Given the description of an element on the screen output the (x, y) to click on. 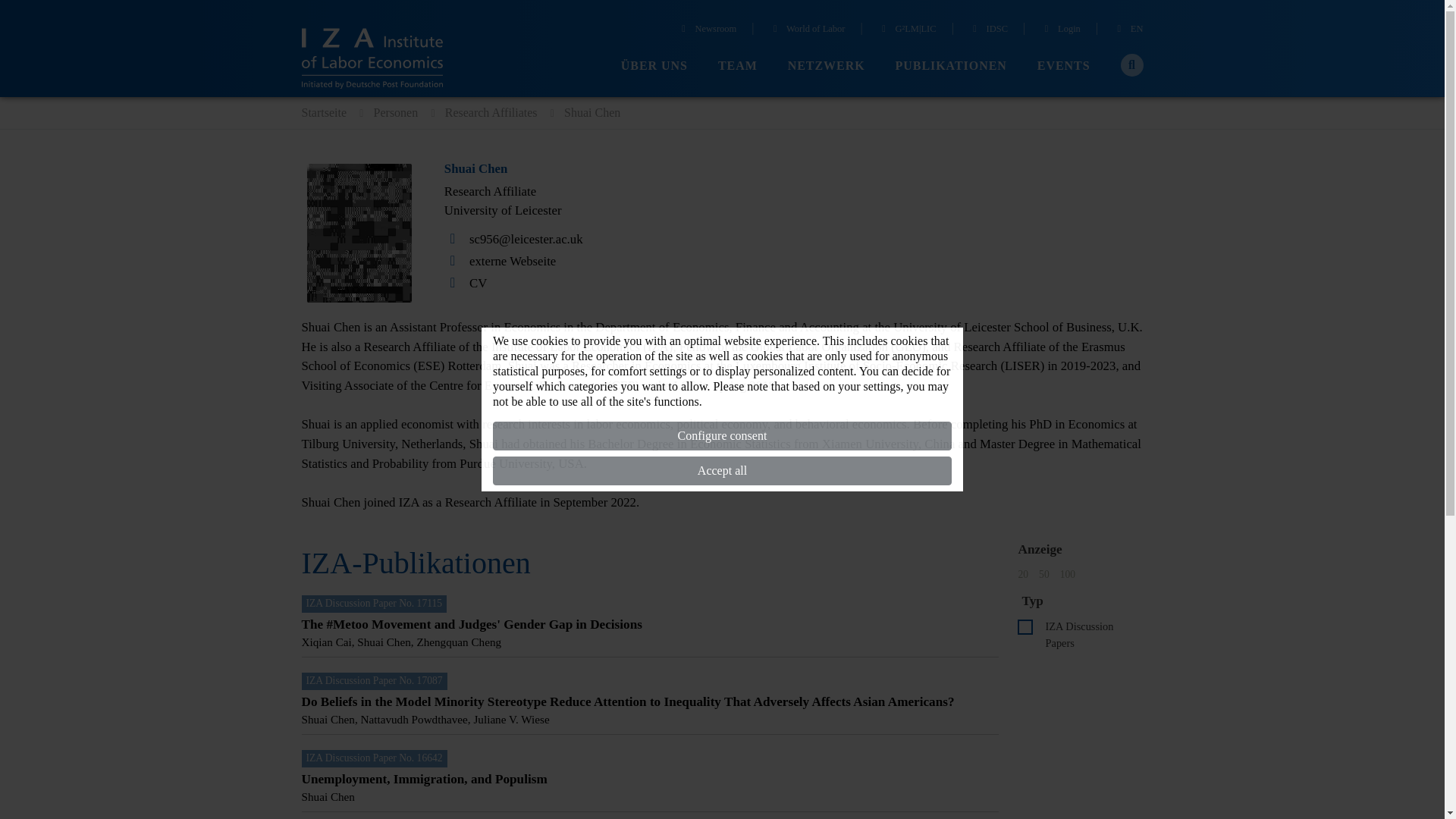
IDSC (988, 30)
Newsroom (707, 30)
dp (1024, 626)
TEAM (737, 66)
EVENTS (1063, 66)
Login (1060, 30)
EN (1127, 30)
NETZWERK (825, 66)
PUBLIKATIONEN (951, 66)
World of Labor (807, 30)
